Given the description of an element on the screen output the (x, y) to click on. 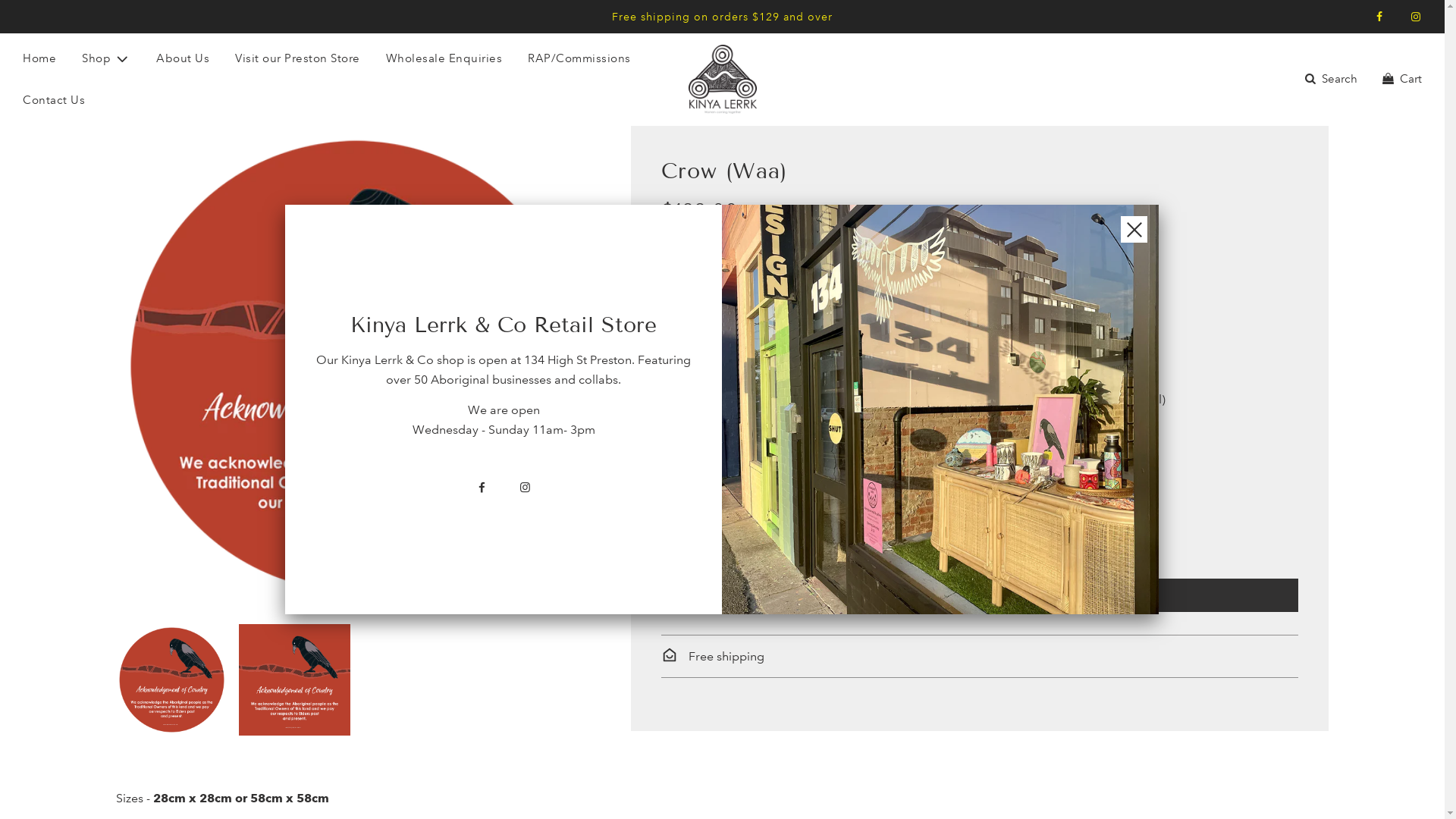
LOADING...
ADD TO CART Element type: text (980, 594)
Visit our Preston Store Element type: text (297, 57)
About Us Element type: text (182, 57)
Search Element type: text (1329, 78)
Shop Element type: text (105, 58)
Wholesale Enquiries Element type: text (444, 57)
Home Element type: text (39, 57)
Contact Us Element type: text (53, 99)
RAP/Commissions Element type: text (579, 57)
Cart Element type: text (1400, 78)
